Given the description of an element on the screen output the (x, y) to click on. 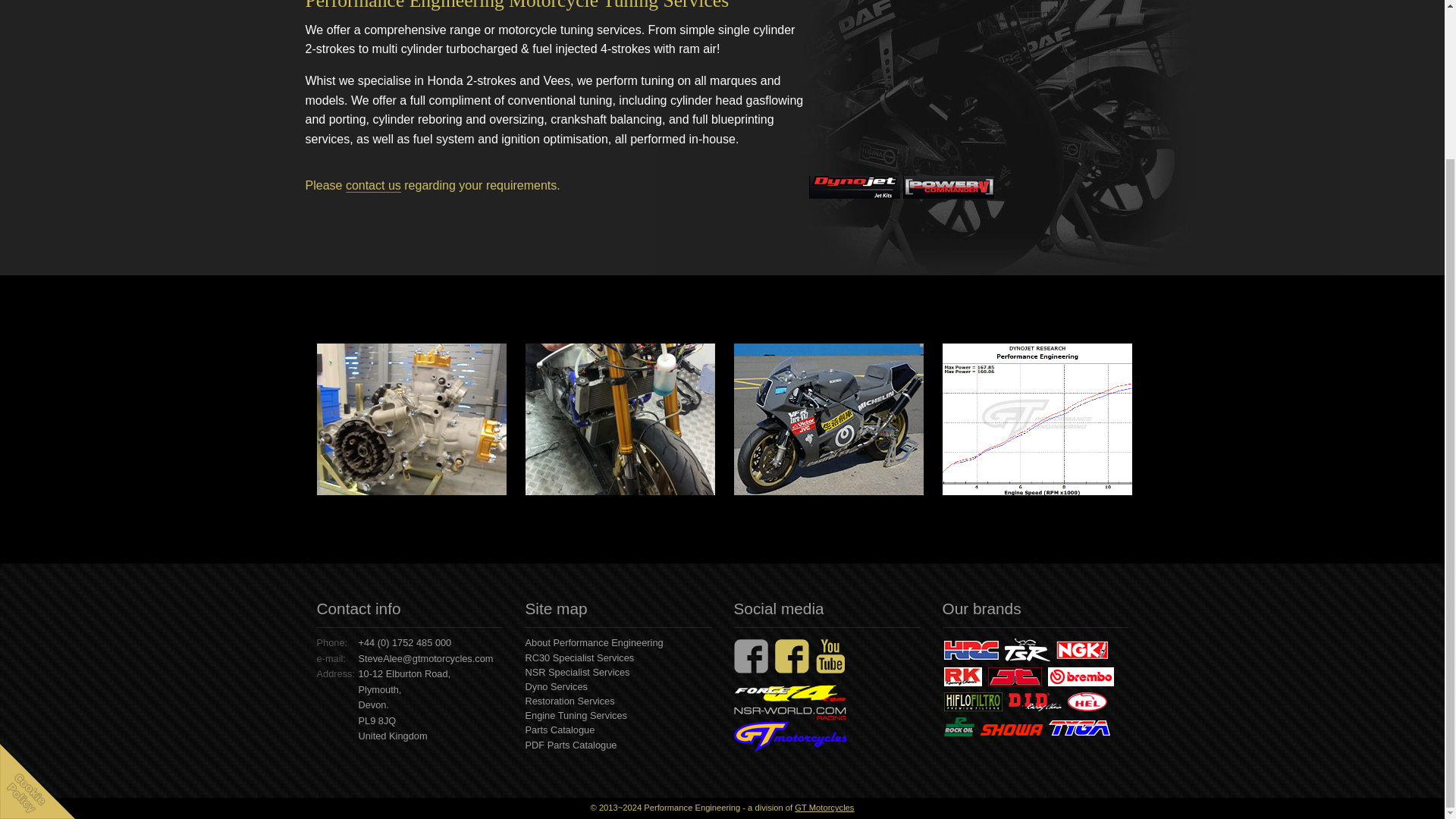
Follow Performance Engineering on Facebook (791, 656)
GT Motorcycles (790, 736)
Contact Us (44, 9)
Follow NSR-WORLD.COM on Facebook (750, 656)
contact us (373, 185)
We are DynoJet agents (854, 187)
NSR-WORLD.COM (789, 713)
Force-V4.com (790, 693)
